Given the description of an element on the screen output the (x, y) to click on. 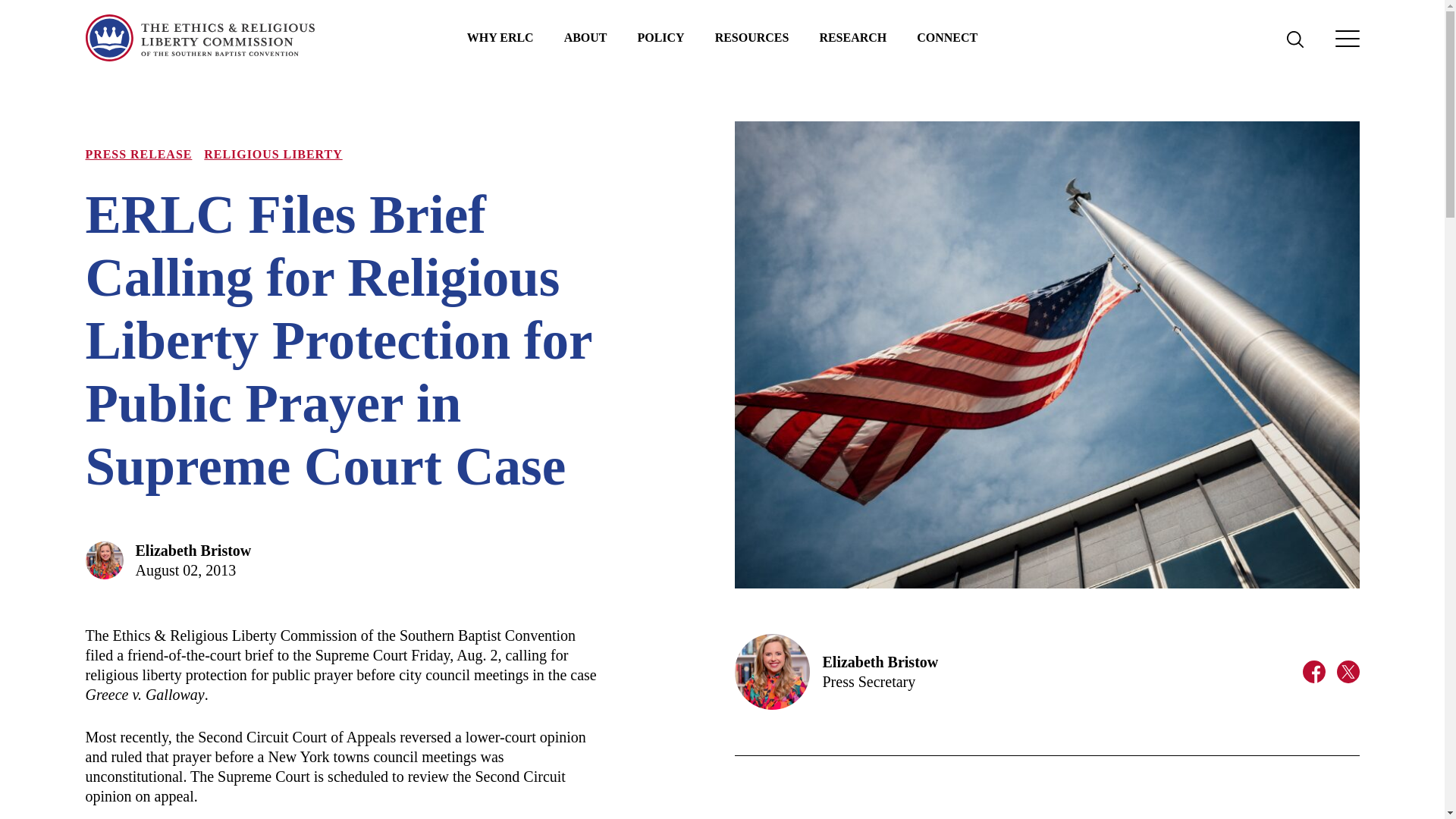
PRESS RELEASE (138, 154)
Home (199, 38)
POLICY (660, 38)
Elizabeth Bristow (192, 550)
RESOURCES (751, 38)
Resources (751, 38)
Why ERLC (500, 38)
CONNECT (946, 38)
WHY ERLC (500, 38)
ABOUT (585, 38)
Elizabeth Bristow (879, 661)
RELIGIOUS LIBERTY (272, 154)
Connect (946, 38)
Research (852, 38)
RESEARCH (852, 38)
